Given the description of an element on the screen output the (x, y) to click on. 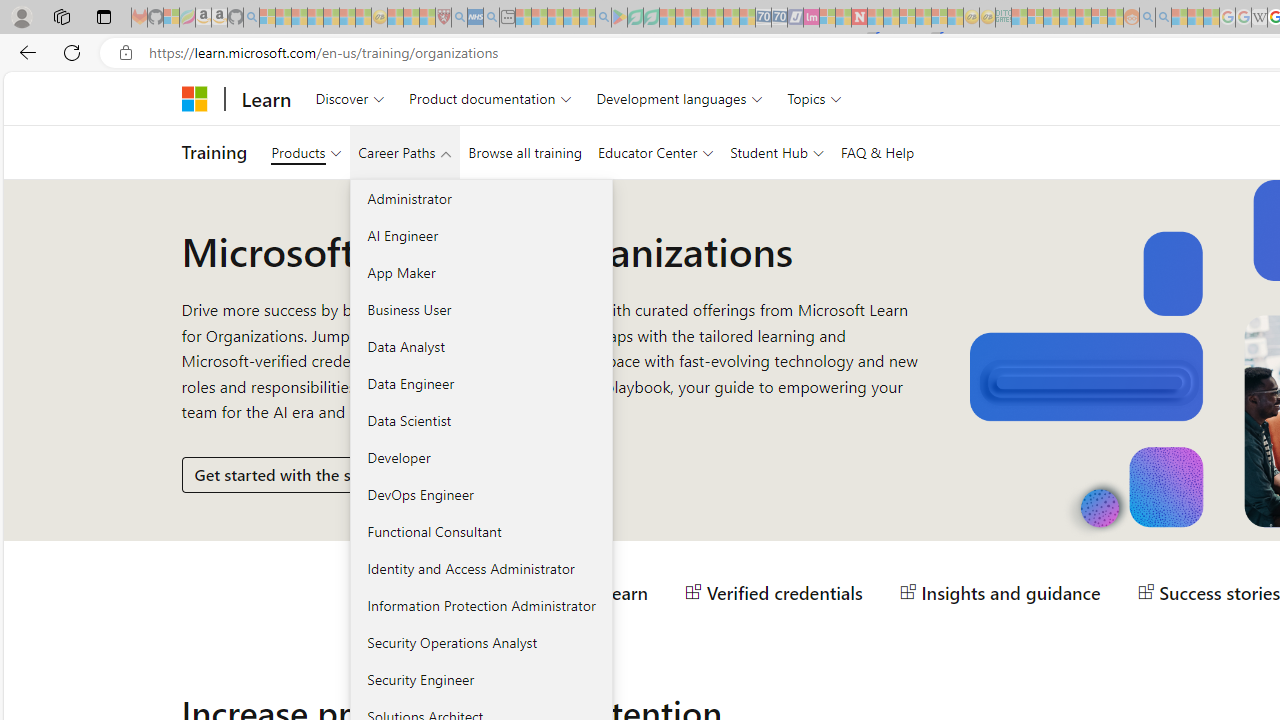
Data Engineer (480, 383)
Topics (815, 98)
FAQ & Help (877, 152)
Functional Consultant (480, 531)
Data Scientist (480, 420)
